Given the description of an element on the screen output the (x, y) to click on. 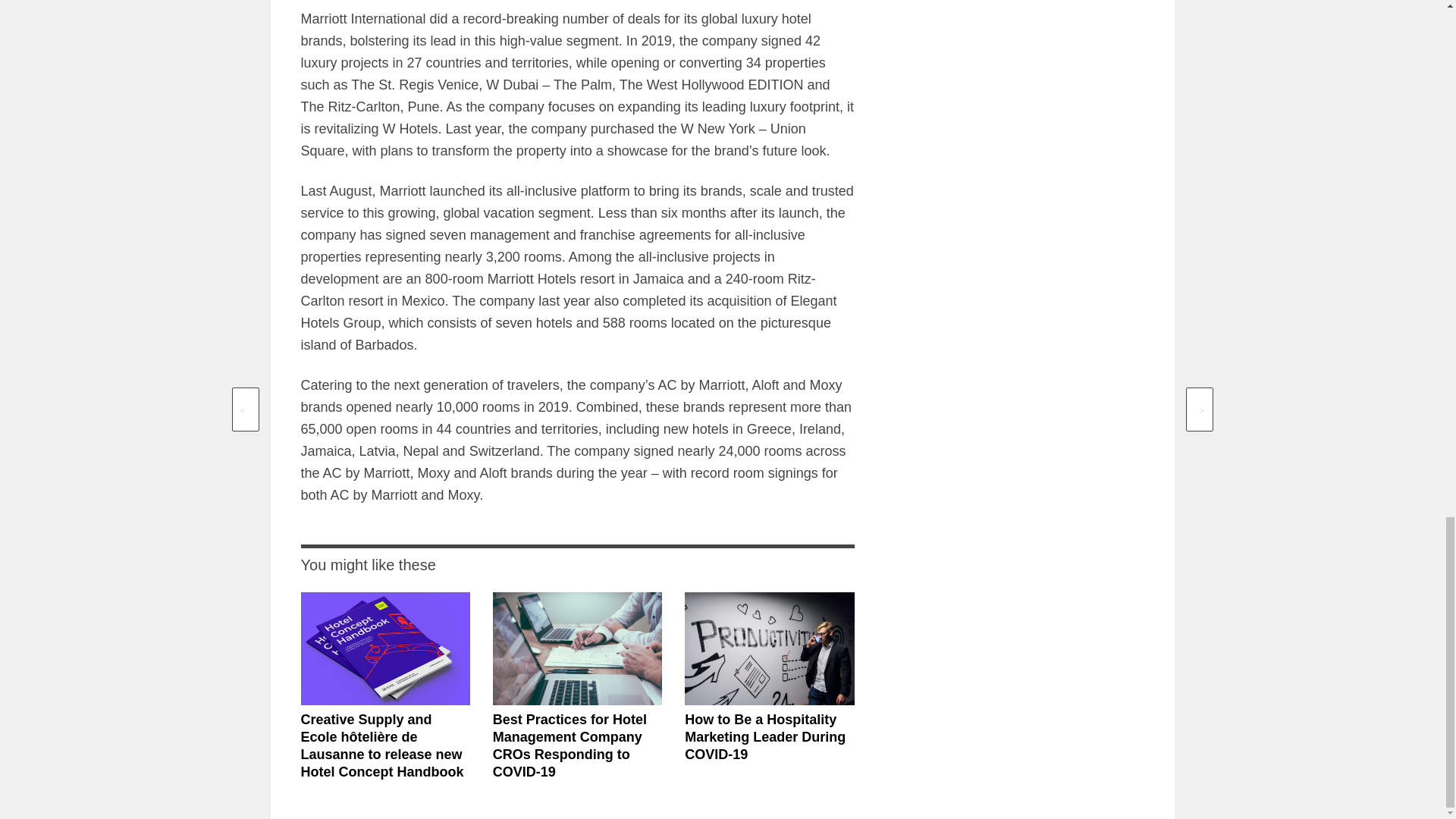
How to Be a Hospitality Marketing Leader During COVID-19 (764, 736)
